Given the description of an element on the screen output the (x, y) to click on. 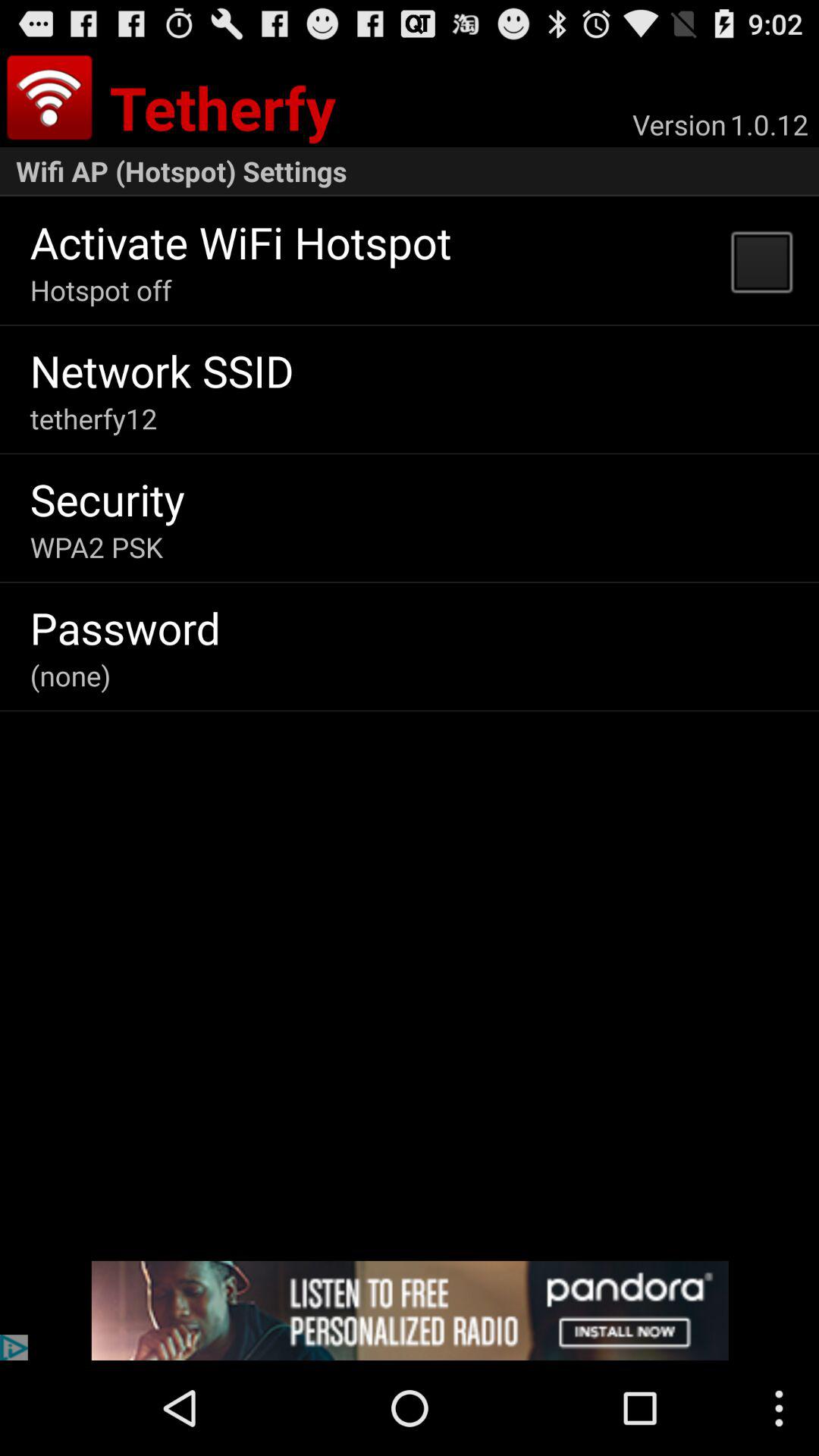
launch the item to the right of activate wifi hotspot app (761, 260)
